Given the description of an element on the screen output the (x, y) to click on. 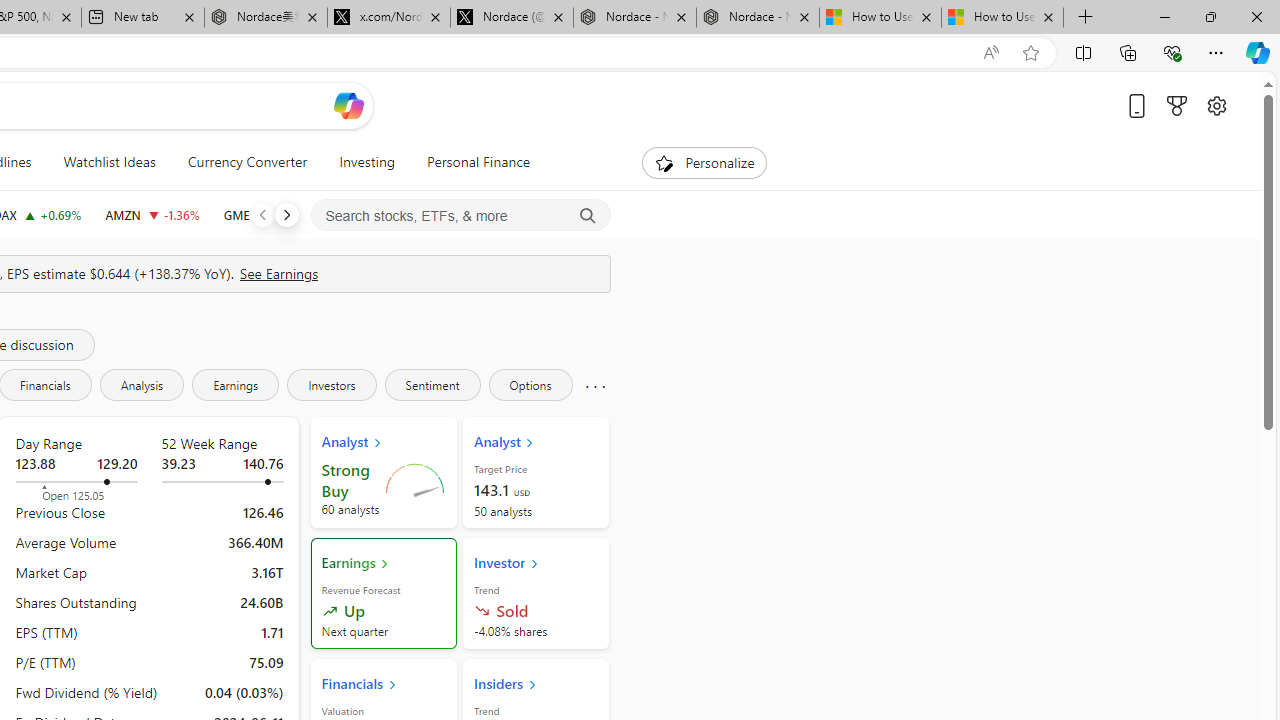
Currency Converter (247, 162)
AMZN AMAZON.COM, INC. decrease 173.12 -2.38 -1.36% (152, 214)
Next (286, 214)
x.com/NordaceOfficial (388, 17)
Personalize (703, 162)
Earnings (236, 384)
Previous (262, 214)
Investors (331, 384)
Search stocks, ETFs, & more (461, 215)
